Given the description of an element on the screen output the (x, y) to click on. 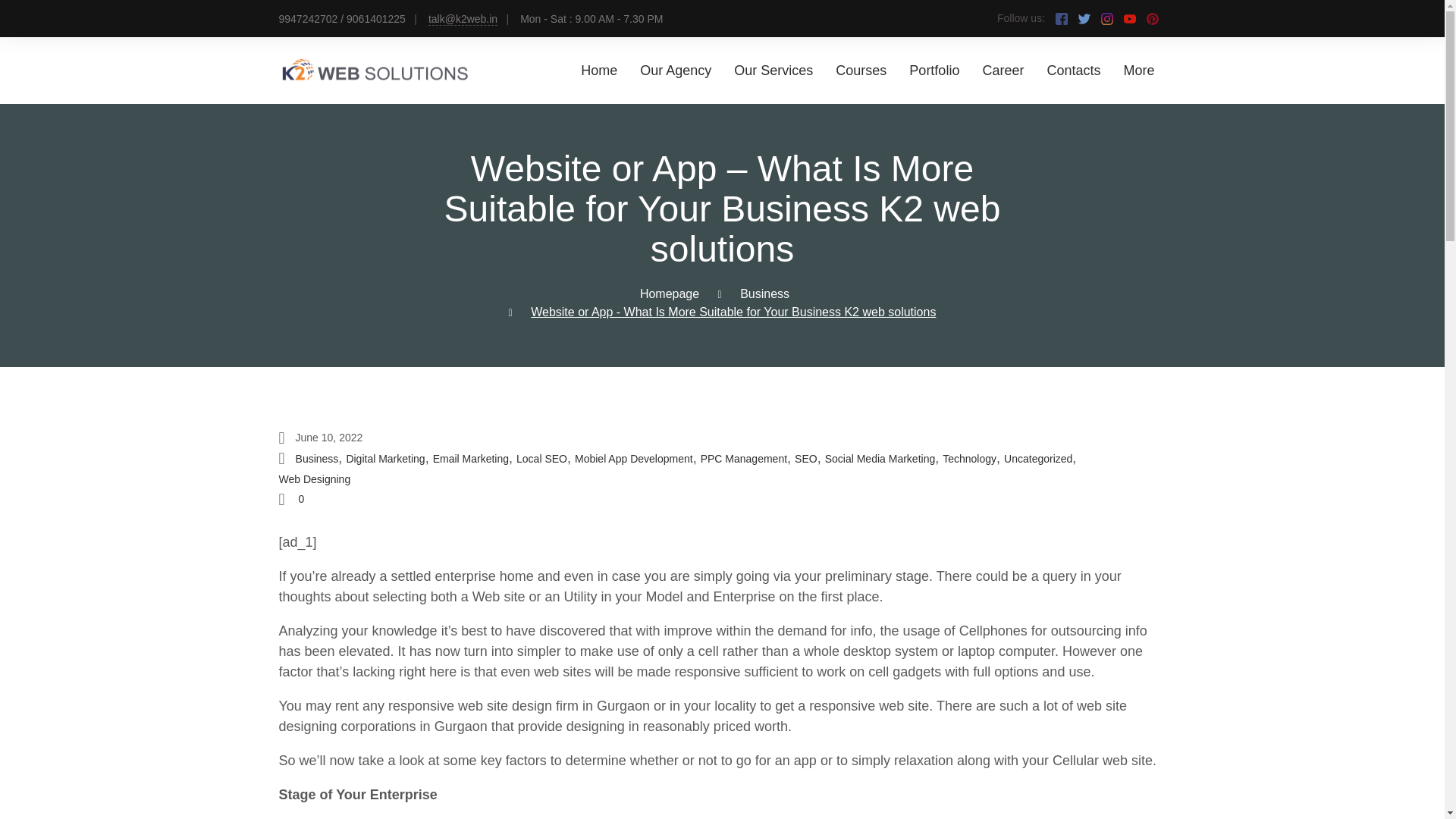
Business (317, 458)
Our Services (772, 69)
Business (764, 293)
More (1138, 69)
Homepage (669, 293)
Courses (860, 69)
Home (598, 69)
Our Agency (675, 69)
Contacts (1073, 69)
Portfolio (933, 69)
